Given the description of an element on the screen output the (x, y) to click on. 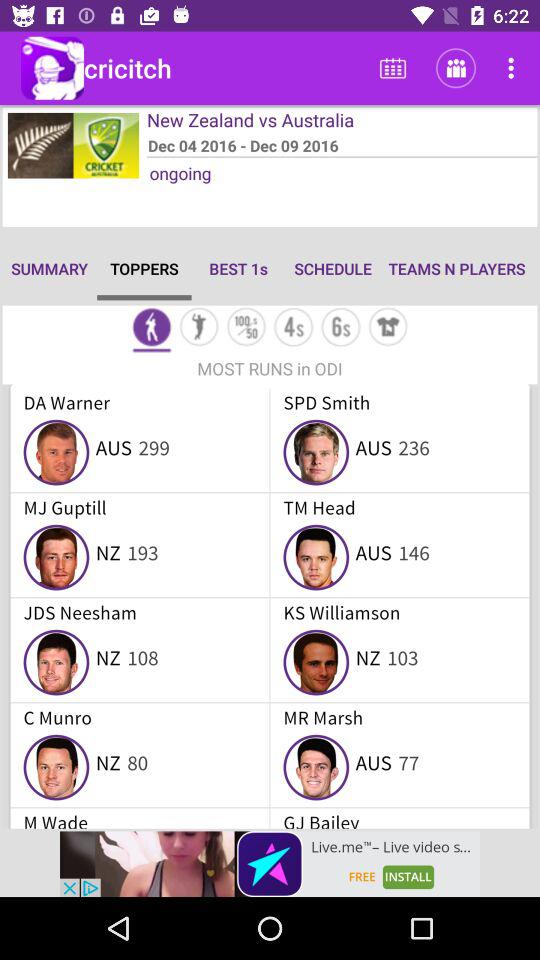
open advertisement (270, 864)
